Given the description of an element on the screen output the (x, y) to click on. 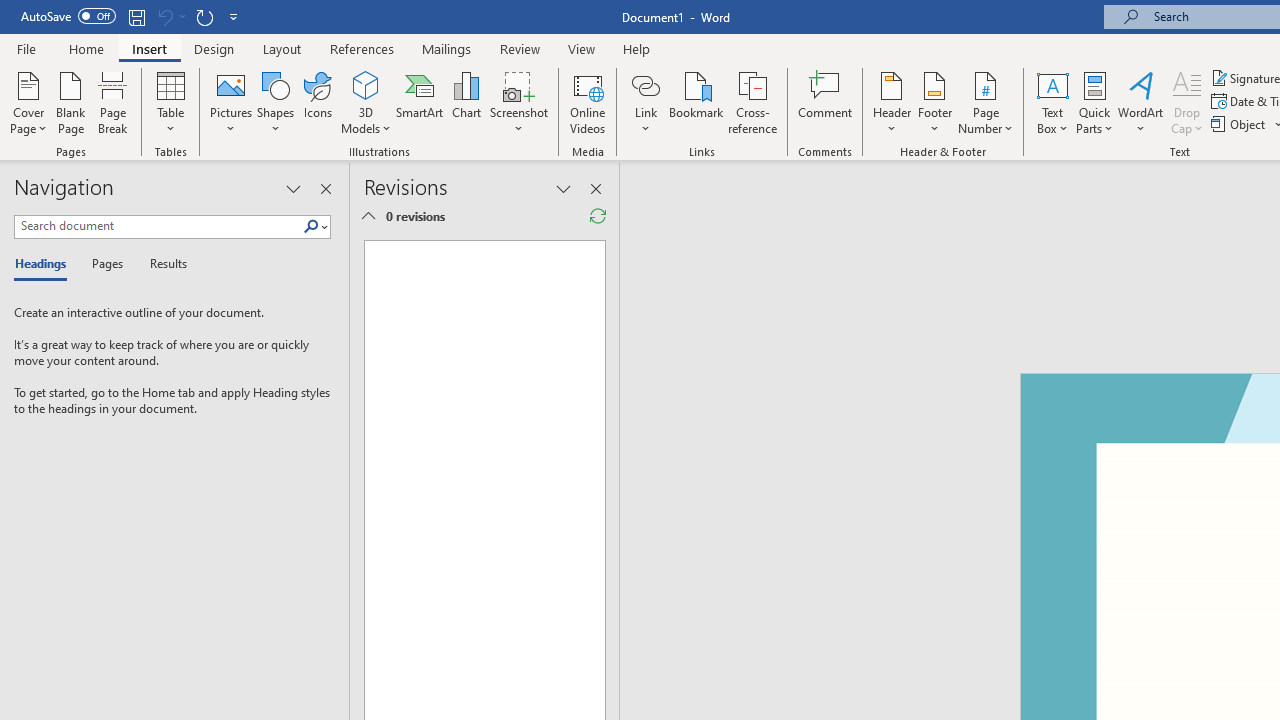
Shapes (275, 102)
Quick Parts (1094, 102)
Can't Undo (164, 15)
Page Break (113, 102)
Object... (1240, 124)
Screenshot (518, 102)
